Given the description of an element on the screen output the (x, y) to click on. 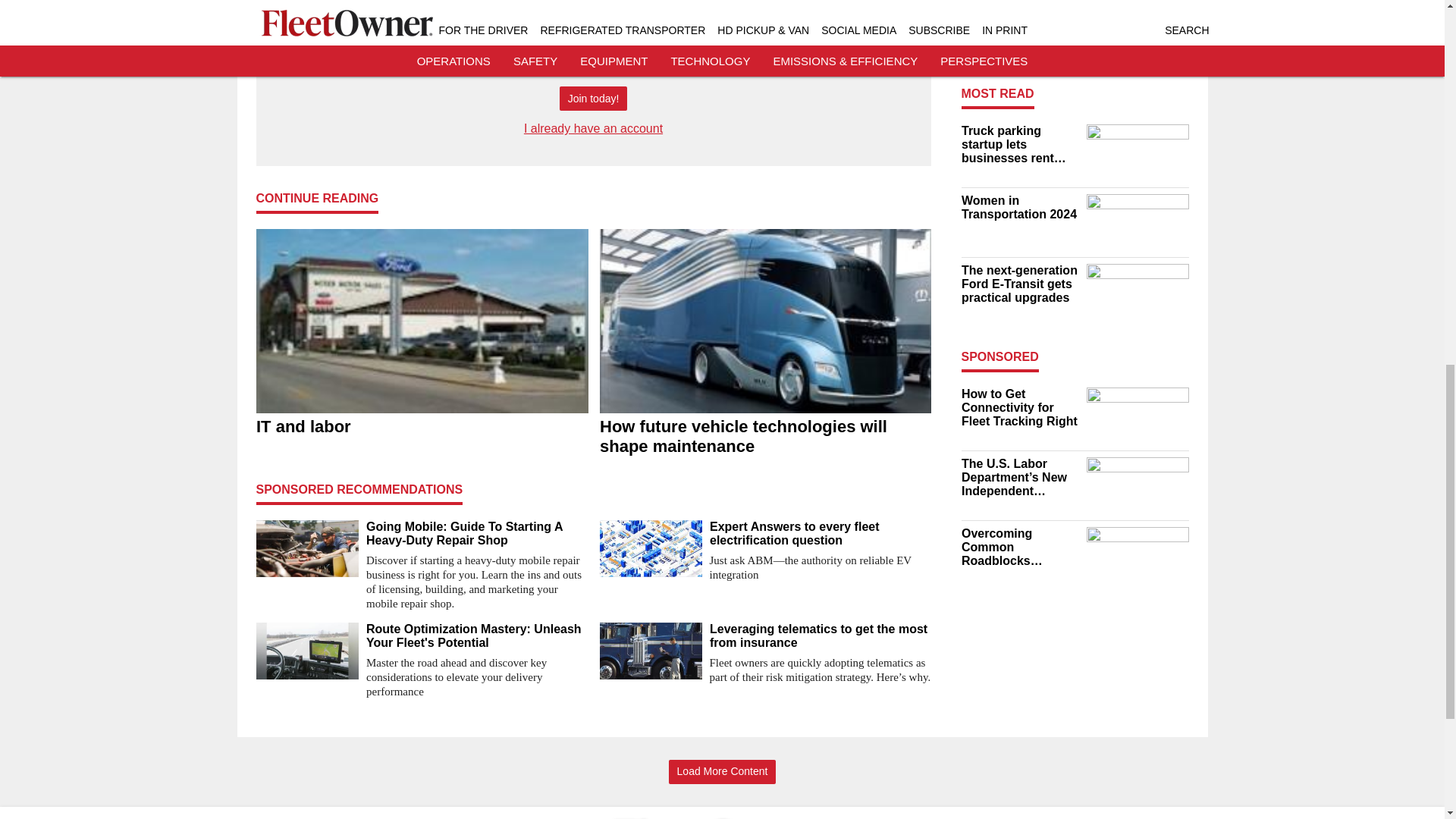
Leveraging telematics to get the most from insurance (820, 636)
How future vehicle technologies will shape maintenance (764, 437)
IT and labor (422, 427)
Expert Answers to every fleet electrification question (820, 533)
Join today! (593, 98)
Route Optimization Mastery: Unleash Your Fleet's Potential (476, 636)
I already have an account (593, 128)
Going Mobile: Guide To Starting A Heavy-Duty Repair Shop (476, 533)
